Given the description of an element on the screen output the (x, y) to click on. 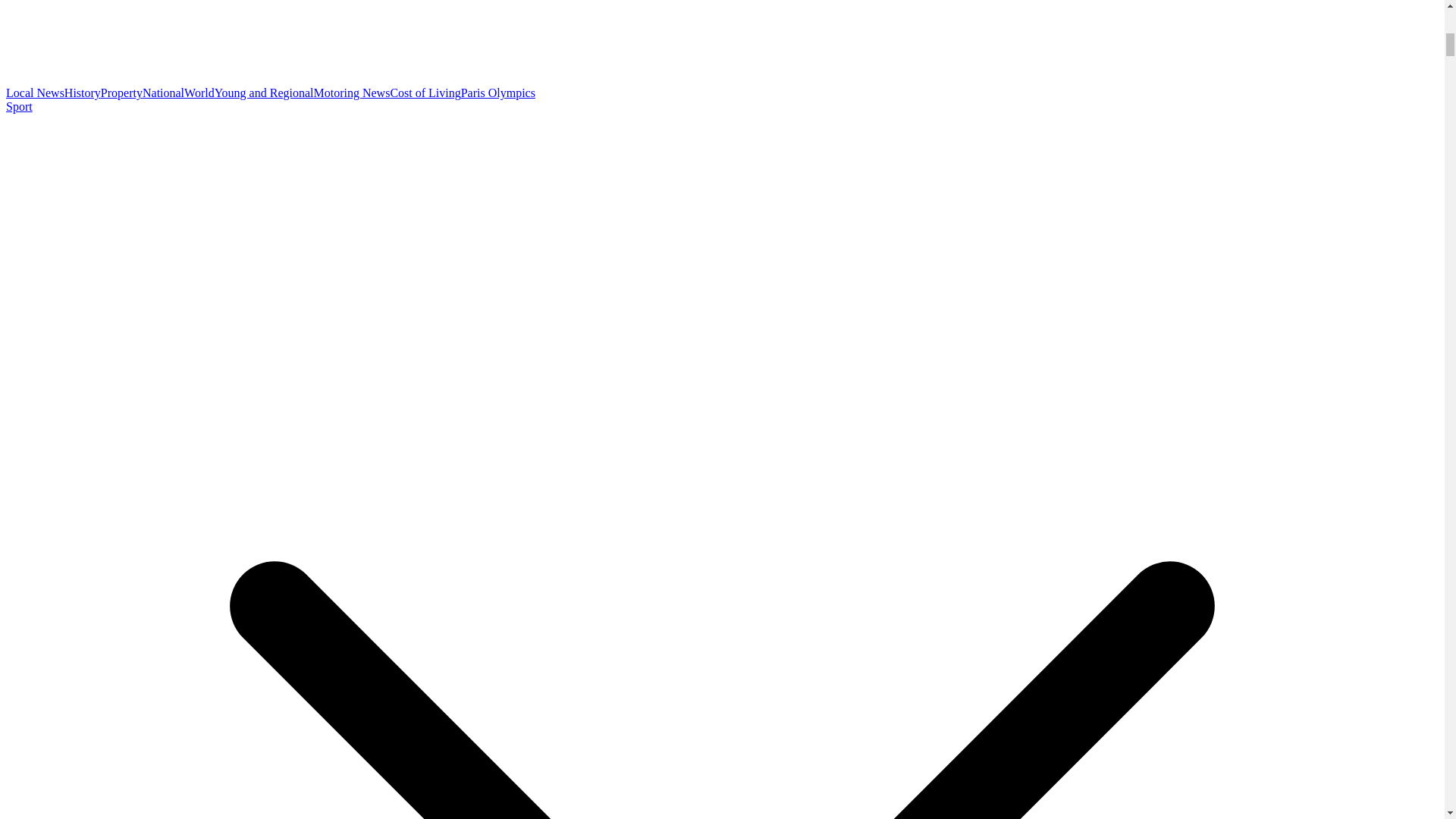
Young and Regional (264, 92)
National (163, 92)
World (199, 92)
Motoring News (351, 92)
Local News (34, 92)
Property (121, 92)
Paris Olympics (498, 92)
History (82, 92)
Cost of Living (425, 92)
Sport (18, 106)
